Given the description of an element on the screen output the (x, y) to click on. 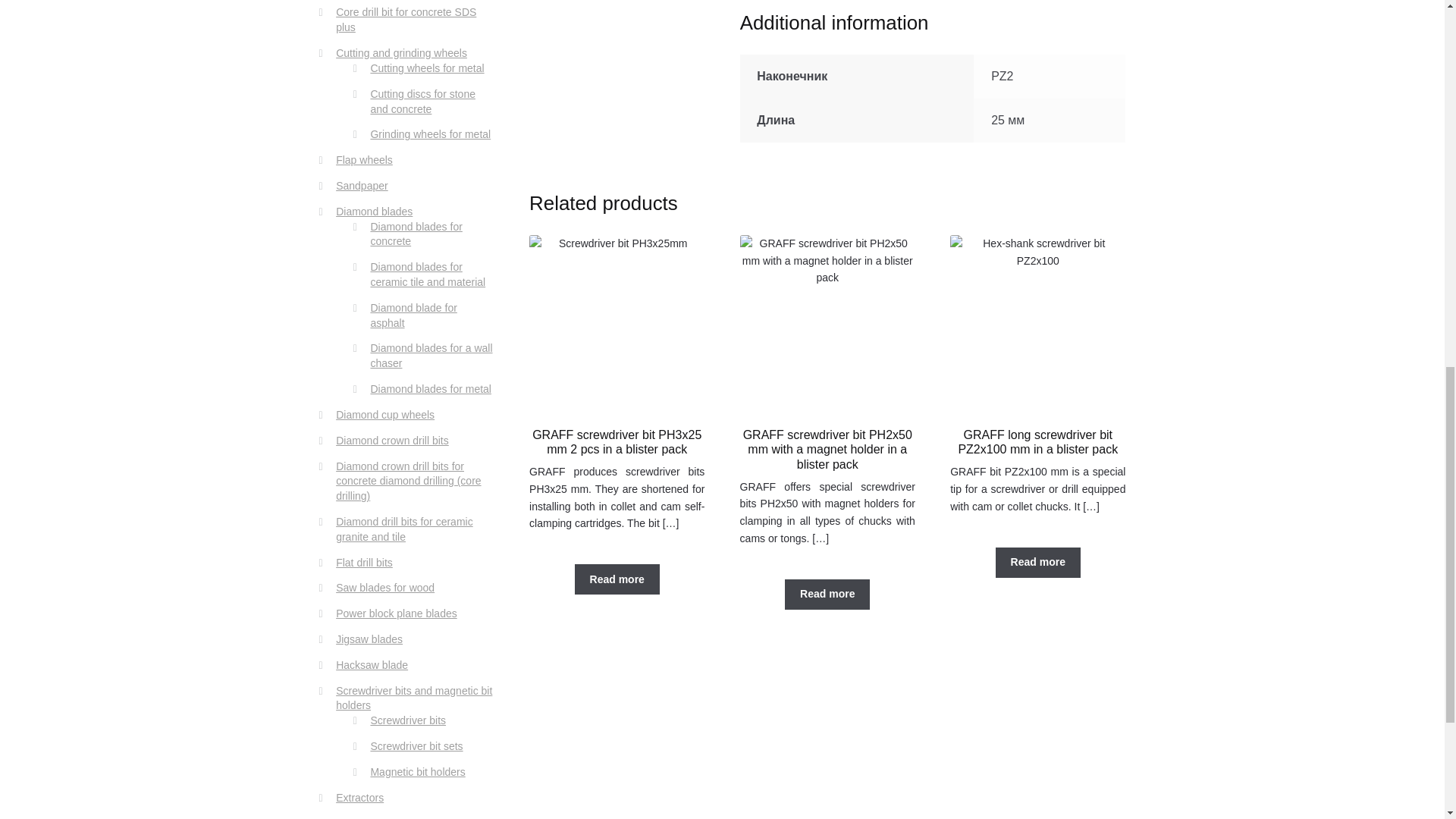
Read more (1037, 562)
Read more (617, 579)
Read more (826, 594)
